Given the description of an element on the screen output the (x, y) to click on. 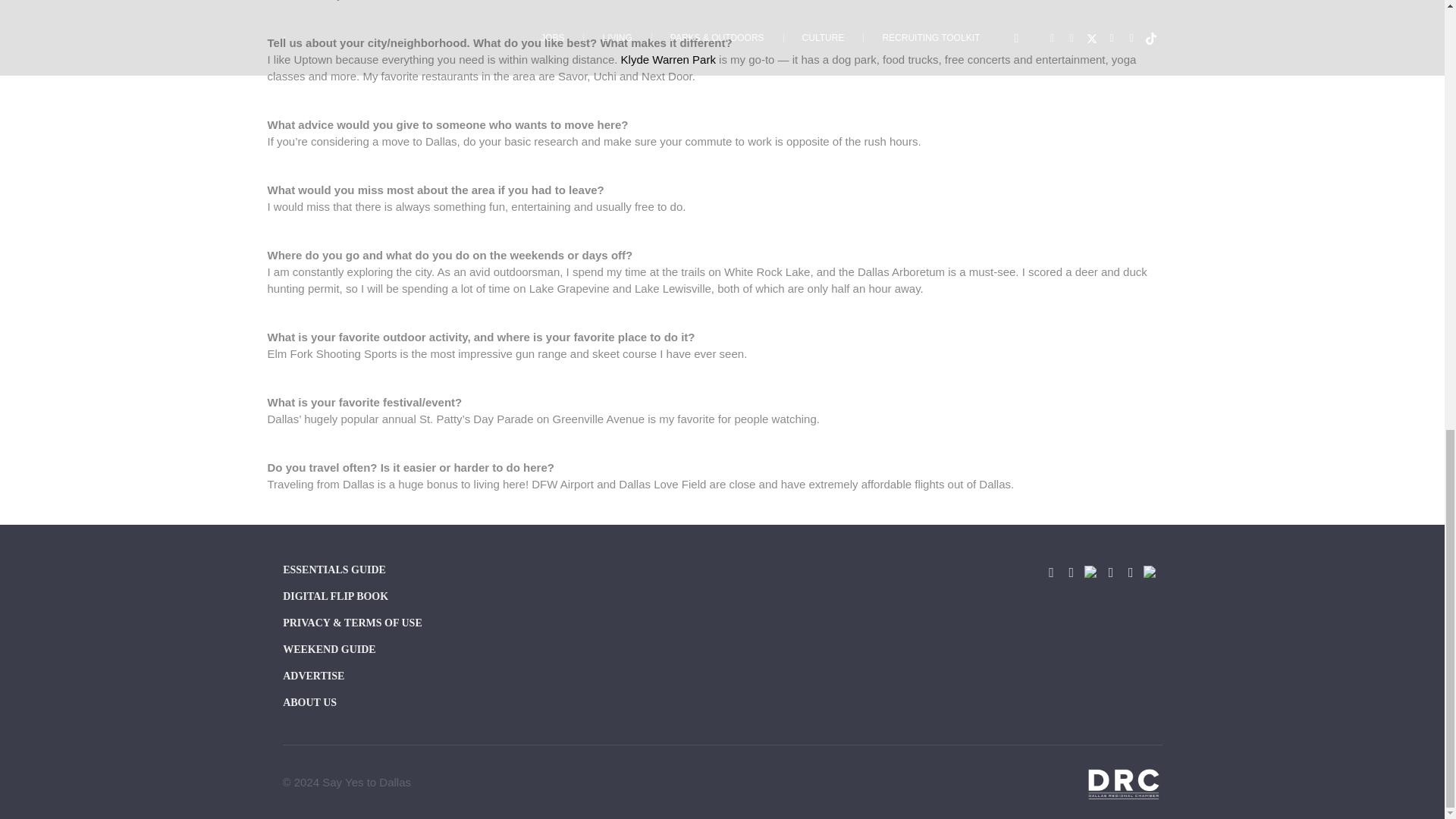
Facebook (1051, 572)
ADVERTISE (418, 678)
ABOUT US (418, 704)
DIGITAL FLIP BOOK (418, 598)
Klyde Warren Park (668, 59)
WEEKEND GUIDE (418, 651)
X (1091, 572)
Linkedin (1130, 572)
ESSENTIALS GUIDE (418, 571)
TikTok (1149, 572)
